Given the description of an element on the screen output the (x, y) to click on. 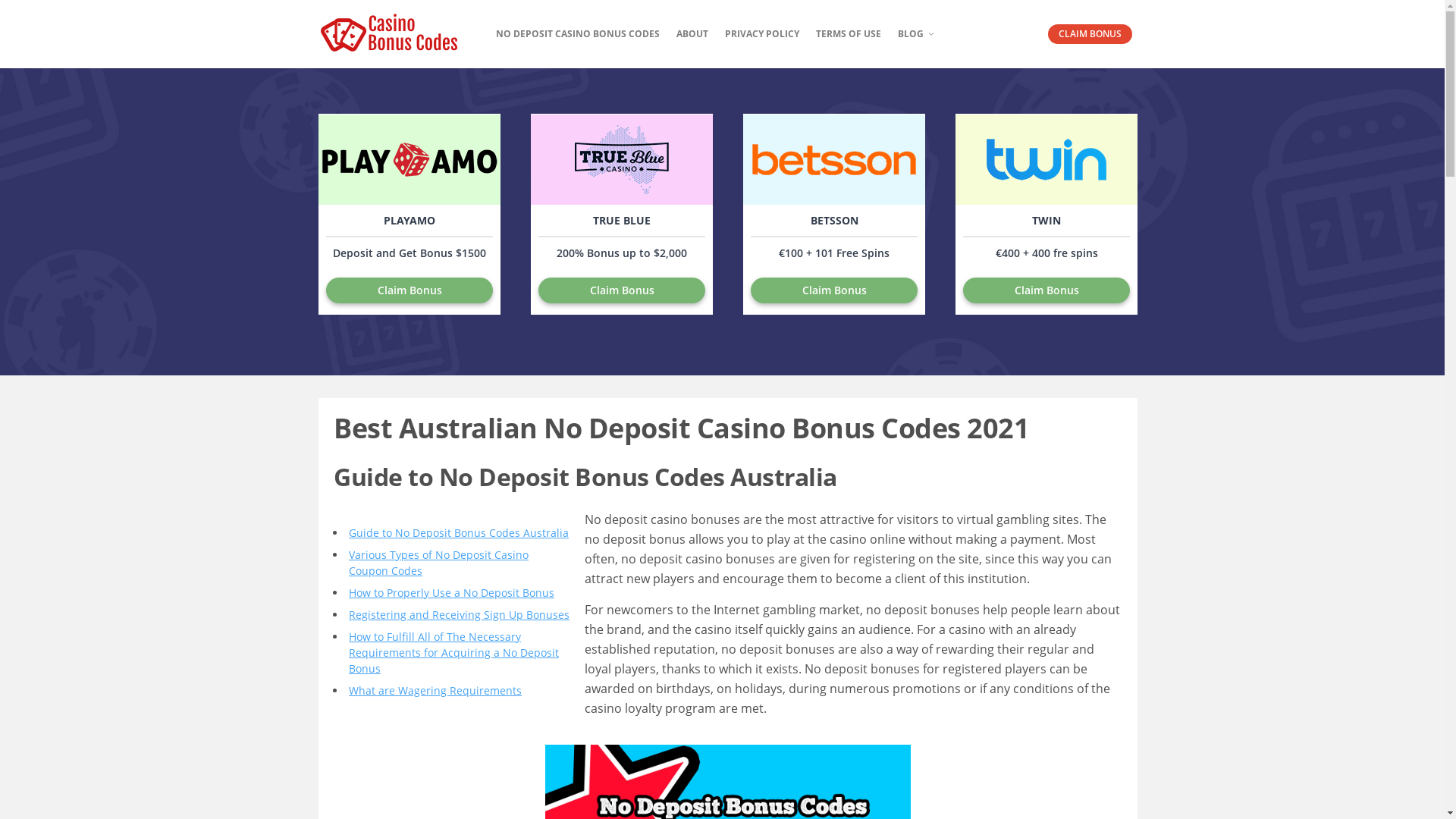
Claim Bonus Element type: text (833, 290)
CLAIM BONUS Element type: text (1090, 33)
NO DEPOSIT CASINO BONUS CODES Element type: text (577, 33)
PRIVACY POLICY Element type: text (761, 33)
What are Wagering Requirements Element type: text (434, 690)
How to Properly Use a No Deposit Bonus Element type: text (451, 592)
Claim Bonus Element type: text (621, 290)
TERMS OF USE Element type: text (848, 33)
ABOUT Element type: text (692, 33)
Registering and Receiving Sign Up Bonuses Element type: text (458, 614)
Claim Bonus Element type: text (1046, 290)
Claim Bonus Element type: text (409, 290)
Guide to No Deposit Bonus Codes Australia Element type: text (458, 532)
Various Types of No Deposit Casino Coupon Codes Element type: text (438, 562)
BLOG Element type: text (916, 33)
